Given the description of an element on the screen output the (x, y) to click on. 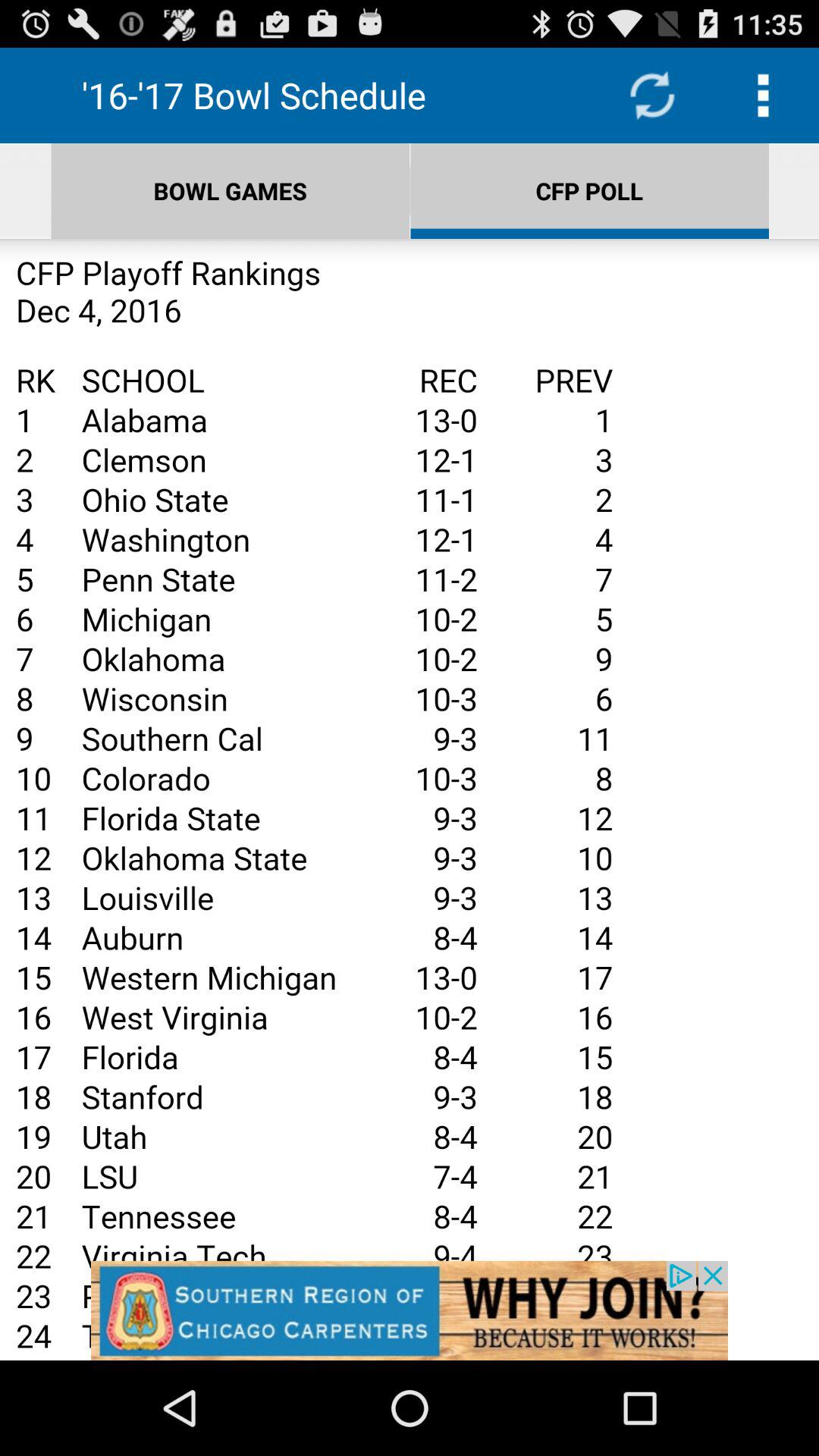
opens the advertisement (409, 799)
